Given the description of an element on the screen output the (x, y) to click on. 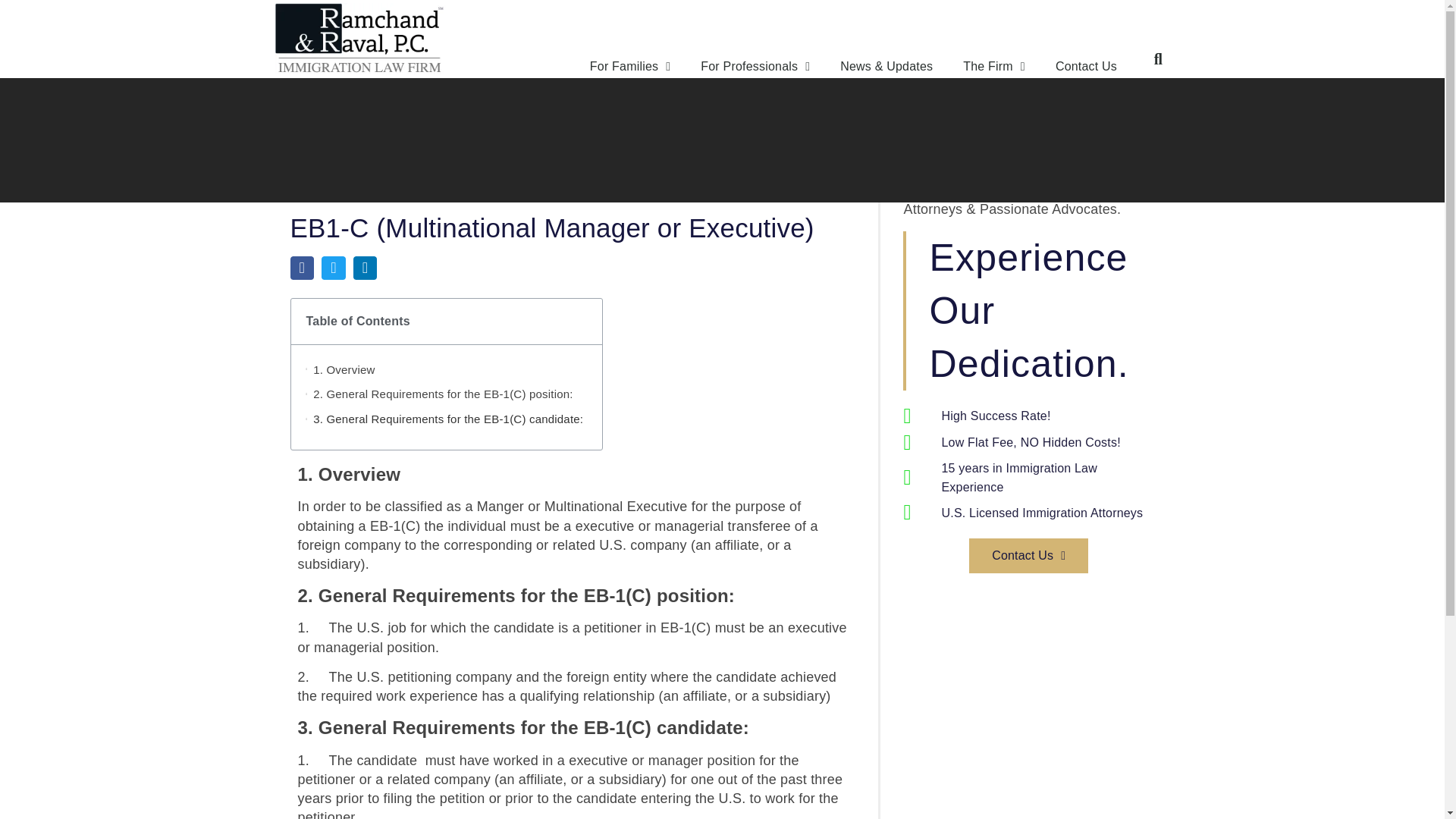
Contact Us (1086, 66)
For Professionals (755, 66)
The Firm (994, 66)
For Families (630, 66)
